Given the description of an element on the screen output the (x, y) to click on. 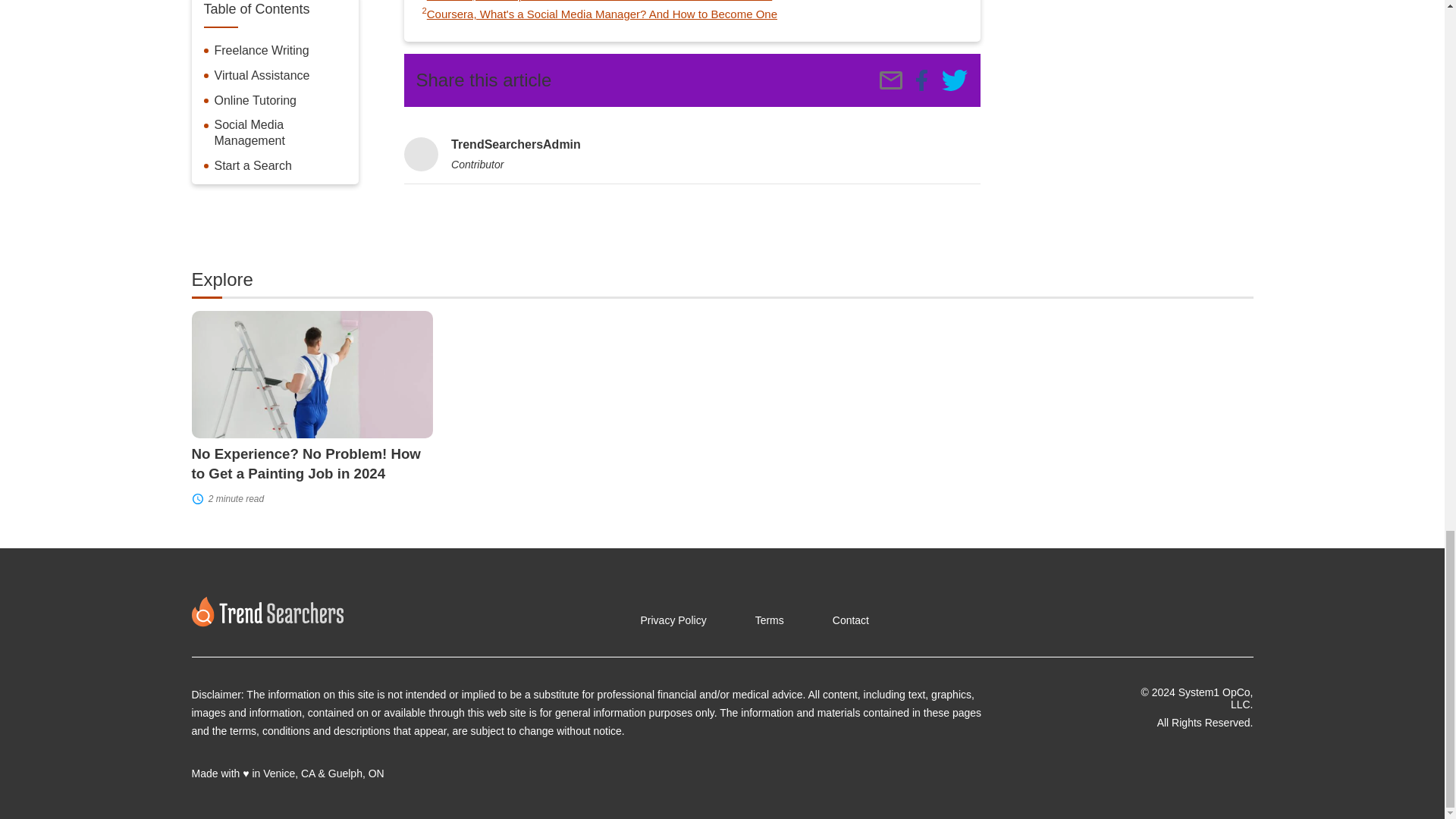
Remote Work Made Easy: The Best Online Jobs To Try (954, 79)
Share by Email (890, 80)
